Given the description of an element on the screen output the (x, y) to click on. 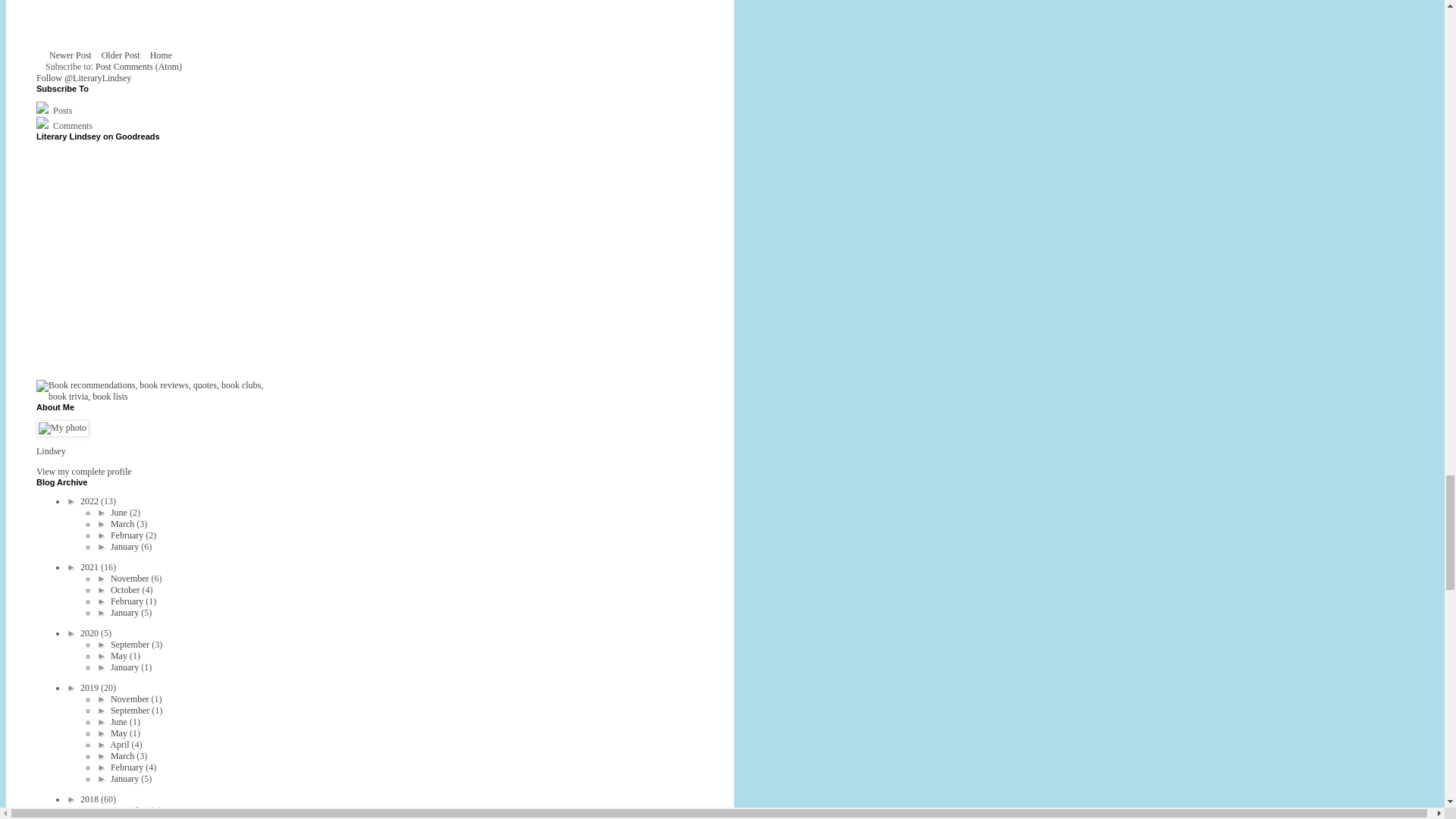
Newer Post (70, 54)
Older Post (120, 54)
